Given the description of an element on the screen output the (x, y) to click on. 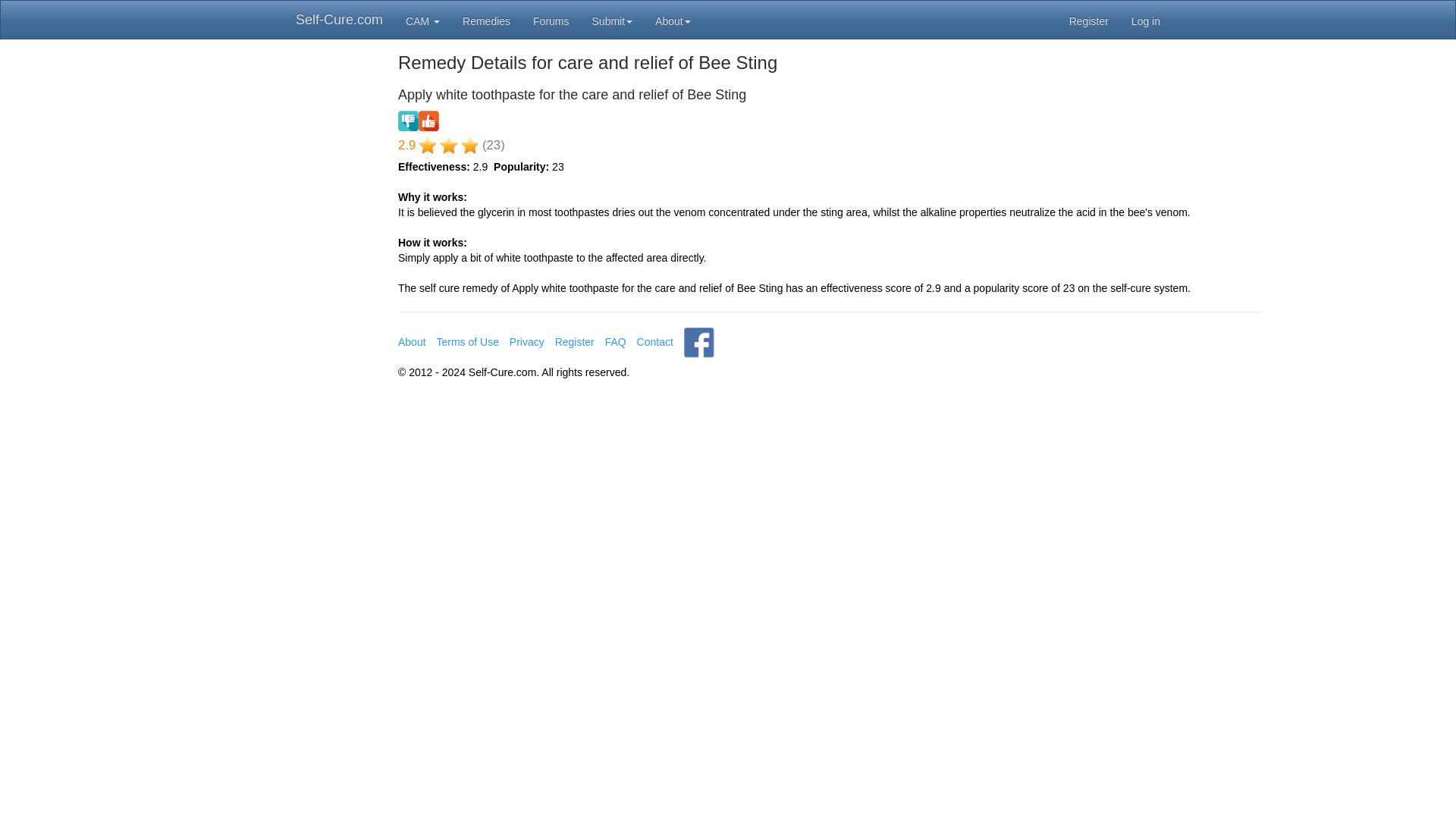
Frequently Asked Questions (615, 341)
More Information (672, 19)
Register (574, 341)
Forums (550, 19)
About (672, 19)
FAQ (615, 341)
About Self-Cure.com (411, 341)
Self-Cure.com (338, 19)
Self-Cure.com Forums (550, 19)
Contact (654, 341)
Terms of Use (466, 341)
Submit (612, 19)
About (411, 341)
Become a Registered User on Self-Cure.com (574, 341)
Privacy (526, 341)
